Given the description of an element on the screen output the (x, y) to click on. 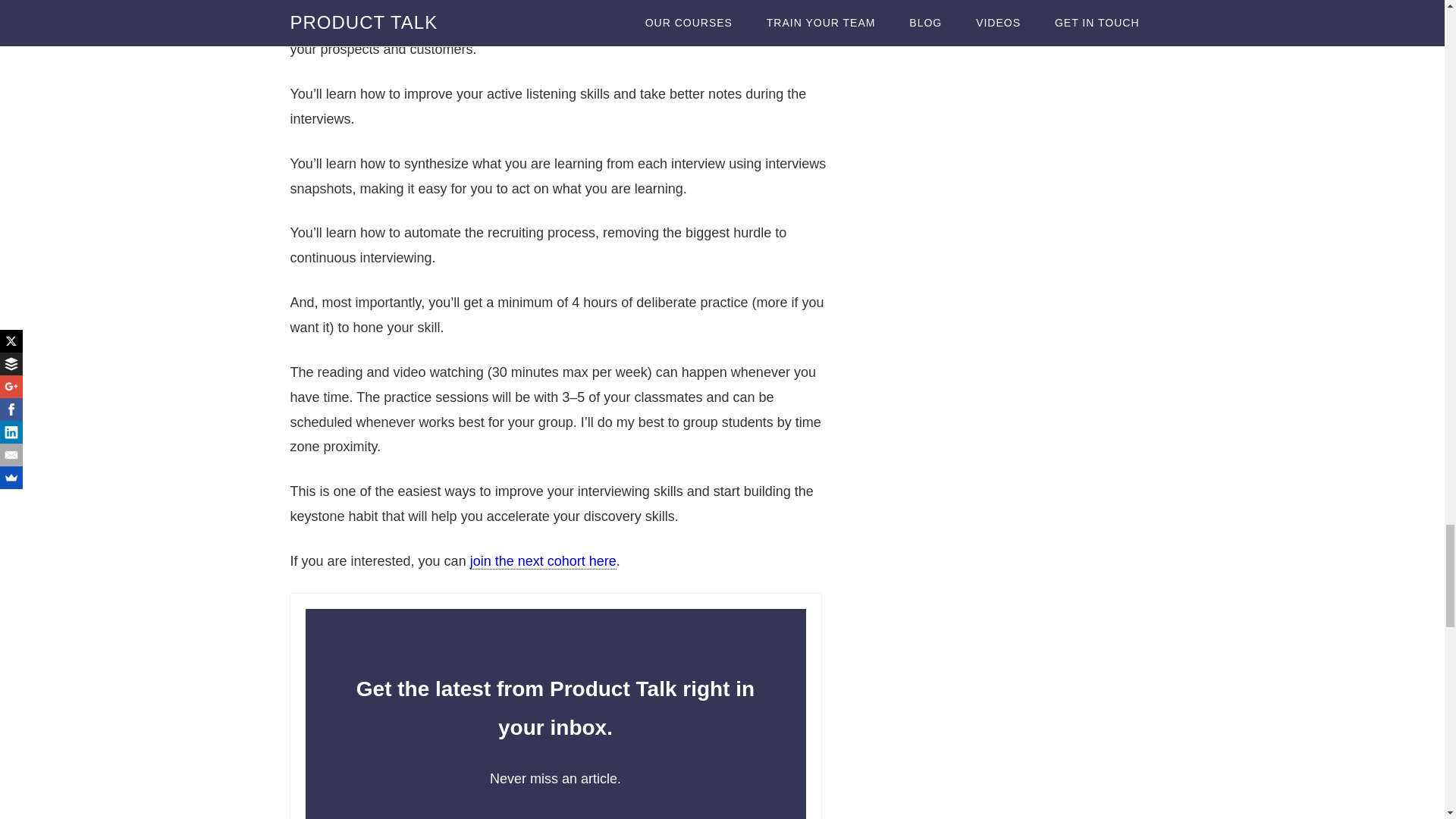
join the next cohort here (542, 561)
